Given the description of an element on the screen output the (x, y) to click on. 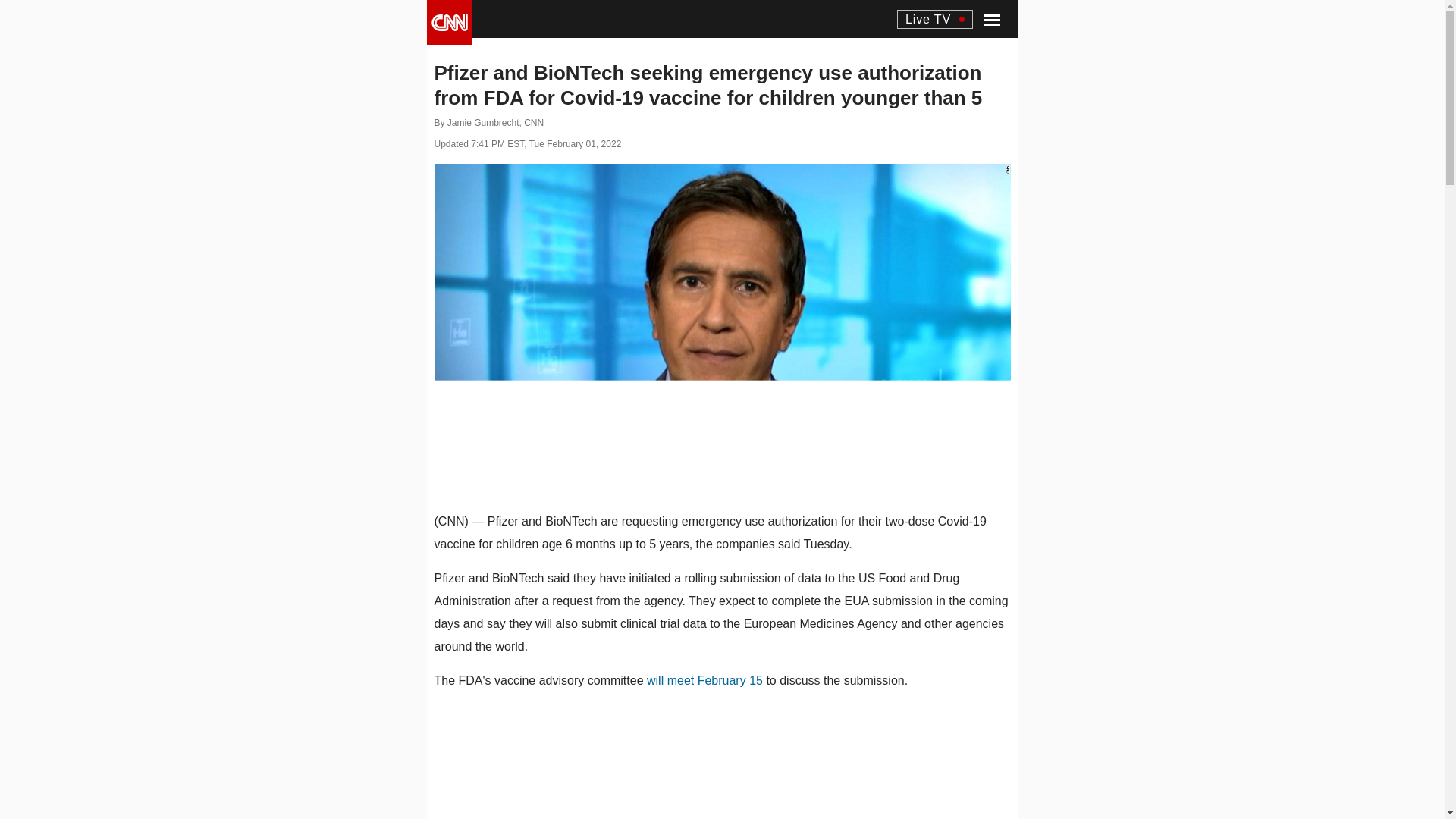
Live TV (934, 18)
will meet February 15 (704, 680)
